Given the description of an element on the screen output the (x, y) to click on. 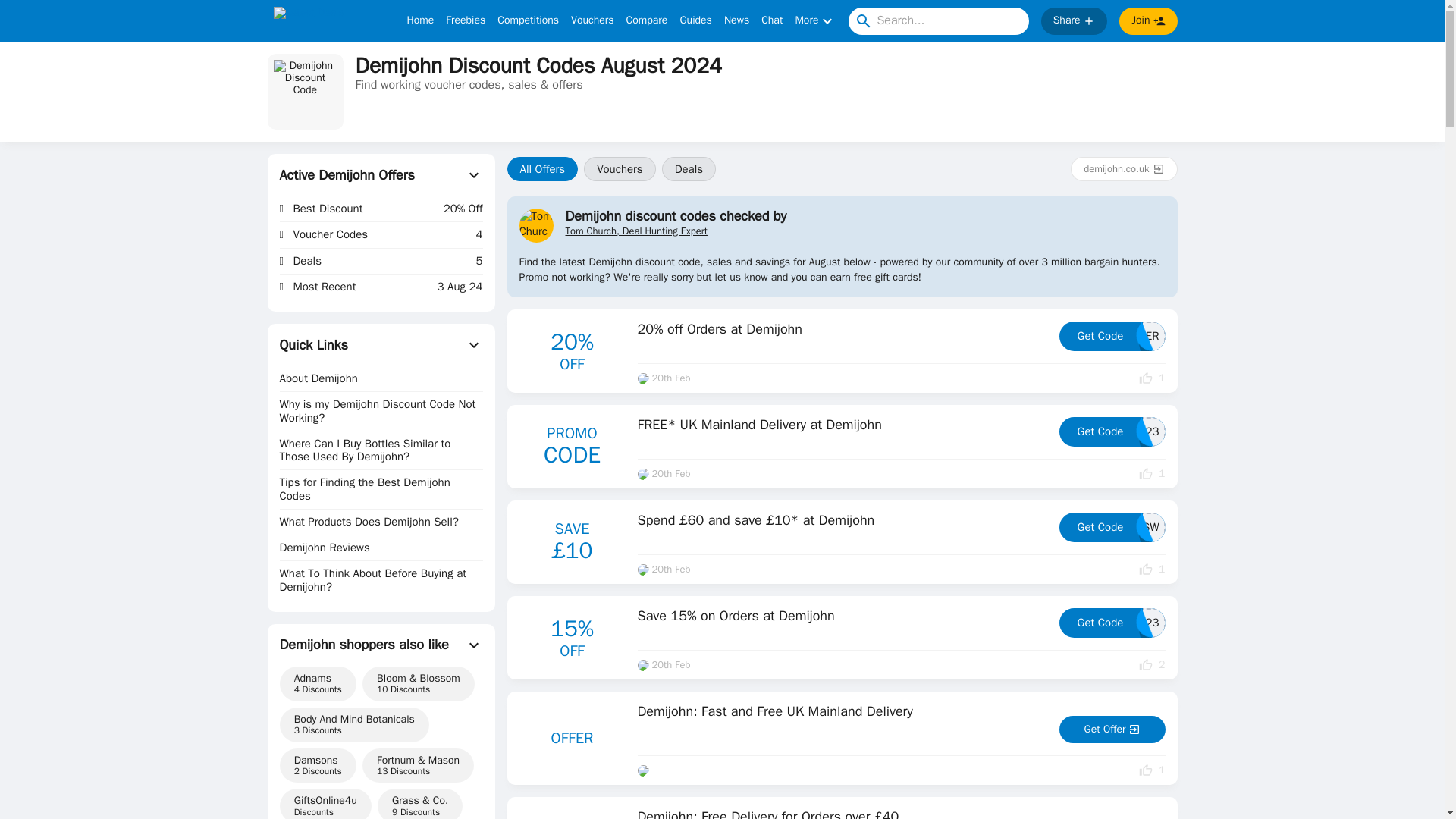
Vouchers (591, 21)
Freebies (464, 21)
1 (1151, 569)
1 (1151, 473)
2 (1151, 664)
Competitions (528, 21)
Guides (695, 21)
Demijohn Voucher Codes (304, 91)
Home (419, 21)
News (736, 21)
